Given the description of an element on the screen output the (x, y) to click on. 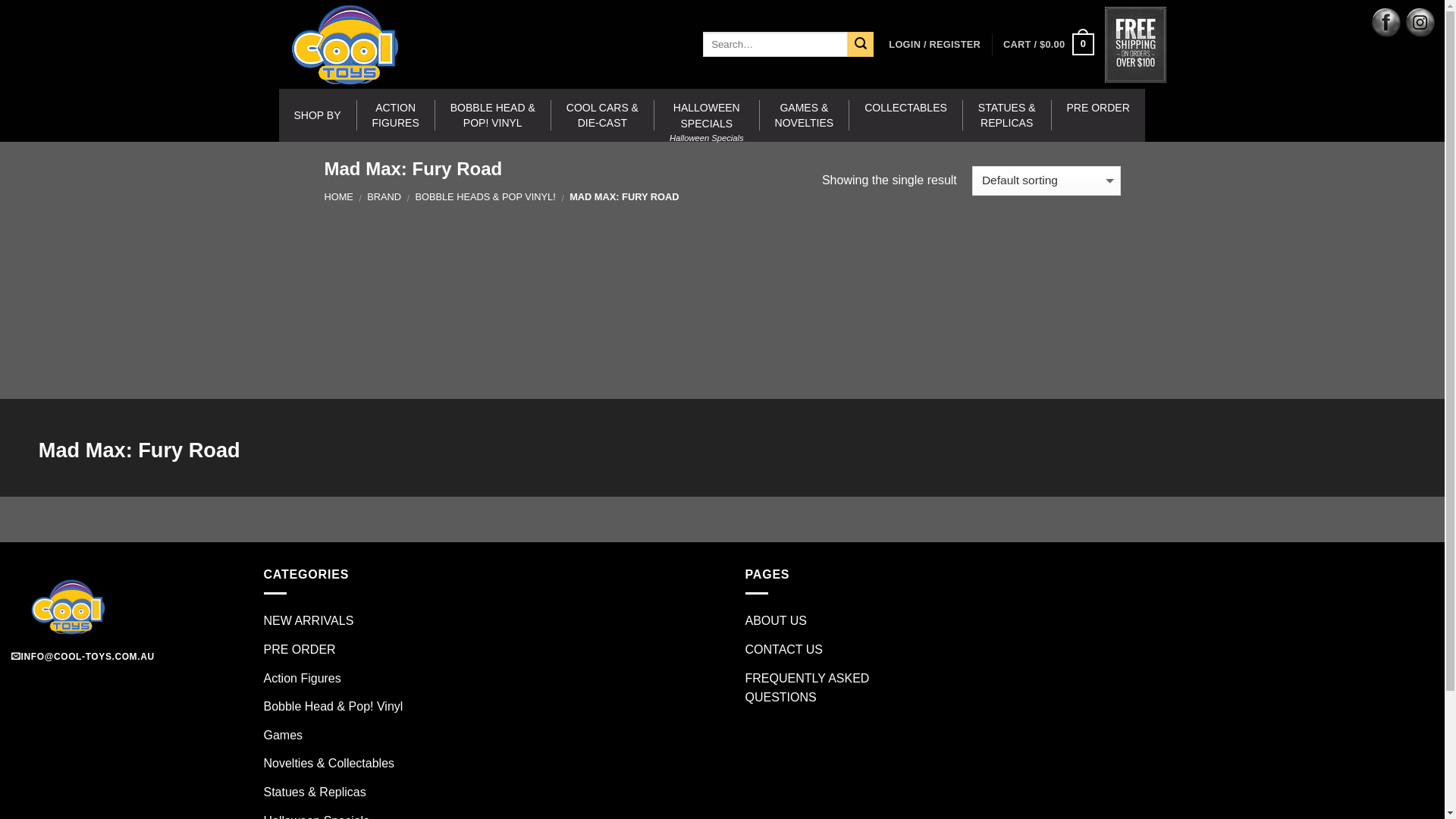
BRAND Element type: text (384, 196)
NEW ARRIVALS Element type: text (308, 620)
PRE ORDER Element type: text (299, 649)
SHOP BY Element type: text (318, 115)
Instagram Element type: hover (1419, 22)
CONTACT US Element type: text (783, 649)
Statues & Replicas Element type: text (314, 792)
Action Figures Element type: text (302, 678)
Bobble Head & Pop! Vinyl Element type: text (333, 706)
COOL CARS &
DIE-CAST Element type: text (602, 115)
GAMES &
NOVELTIES Element type: text (804, 115)
CART / $0.00
0 Element type: text (1048, 44)
FREQUENTLY ASKED QUESTIONS Element type: text (842, 688)
ABOUT US Element type: text (775, 620)
HOME Element type: text (338, 196)
HALLOWEEN
SPECIALS
Halloween Specials Element type: text (706, 115)
STATUES &
REPLICAS Element type: text (1007, 115)
PRE ORDER Element type: text (1098, 115)
Games Element type: text (283, 735)
BOBBLE HEADS & POP VINYL! Element type: text (484, 196)
ACTION
FIGURES Element type: text (395, 115)
COLLECTABLES Element type: text (906, 115)
Facebook Element type: hover (1386, 22)
BOBBLE HEAD &
POP! VINYL Element type: text (493, 115)
LOGIN / REGISTER Element type: text (934, 43)
Novelties & Collectables Element type: text (329, 763)
